Given the description of an element on the screen output the (x, y) to click on. 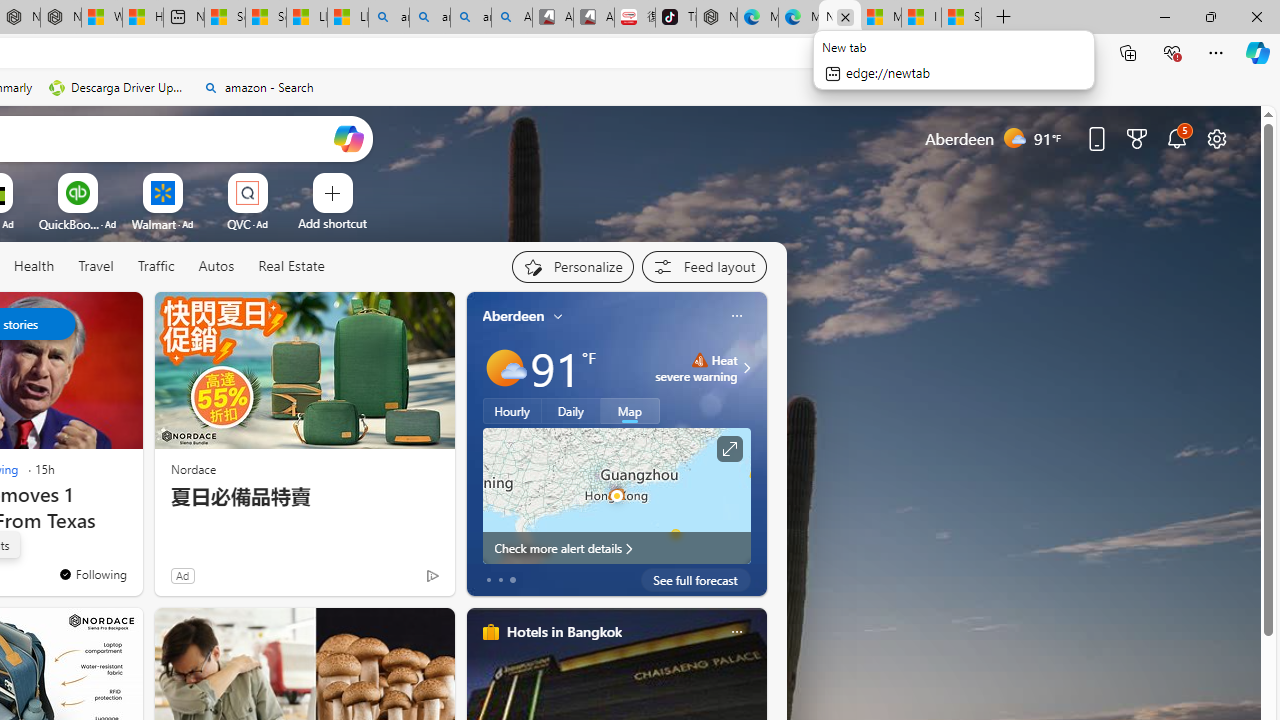
Daily (571, 411)
tab-0 (488, 579)
Autos (215, 265)
Real Estate (290, 267)
Close (1256, 16)
Settings and more (Alt+F) (1215, 52)
Nordace (193, 468)
Copilot (Ctrl+Shift+.) (1258, 52)
Descarga Driver Updater (118, 88)
Travel (95, 267)
Traffic (155, 265)
Feed settings (703, 266)
